Given the description of an element on the screen output the (x, y) to click on. 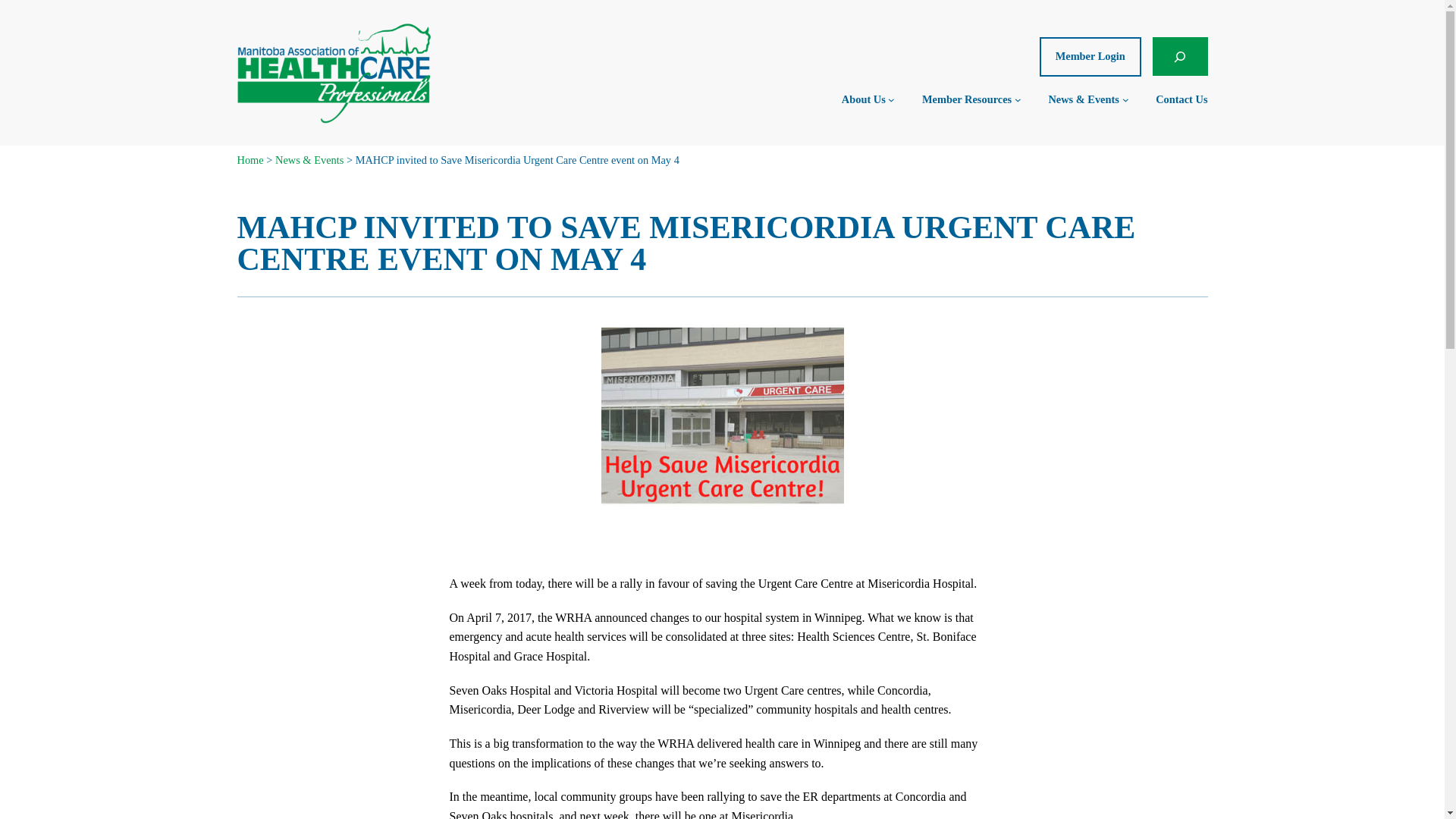
About Us (863, 99)
Member Resources (966, 99)
Member Login (1090, 56)
Contact Us (1181, 99)
